Given the description of an element on the screen output the (x, y) to click on. 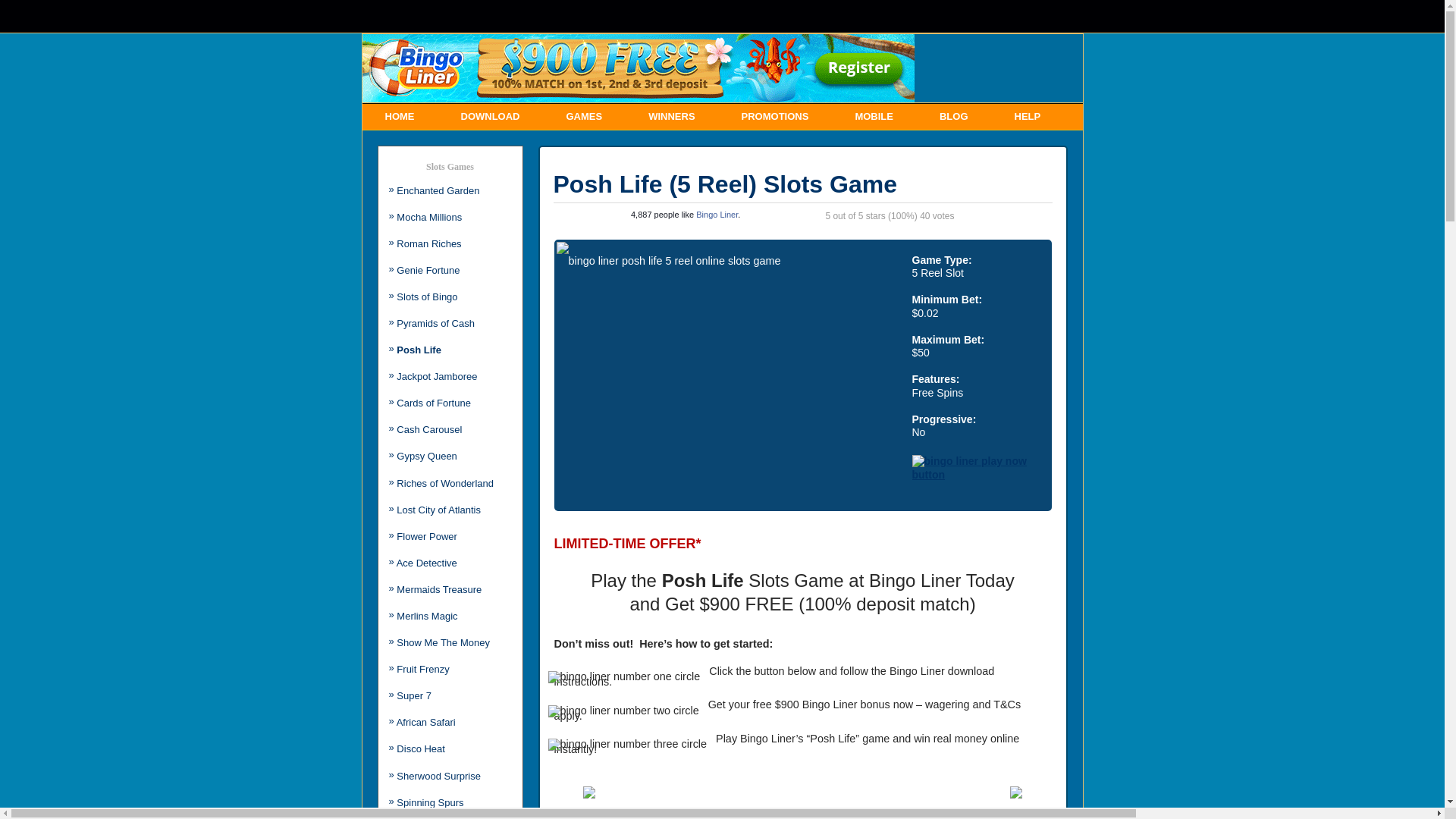
Pyramids of Cash Element type: text (435, 323)
Super 7 Element type: text (413, 695)
Enchanted Garden Element type: text (437, 190)
Jackpot Jamboree Element type: text (436, 376)
Slots of Bingo Element type: text (426, 296)
PROMOTIONS Element type: text (774, 116)
African Safari Element type: text (425, 722)
WINNERS Element type: text (671, 116)
Cards of Fortune Element type: text (433, 402)
Bingo Liner download instructions Element type: text (773, 675)
Genie Fortune Element type: text (427, 270)
Sherwood Surprise Element type: text (438, 775)
MOBILE Element type: text (873, 116)
Fruit Frenzy Element type: text (422, 668)
GAMES Element type: text (583, 116)
Play Bingo Liner Element type: text (755, 738)
Lost City of Atlantis Element type: text (438, 509)
Posh Life Element type: text (418, 349)
Ace Detective Element type: text (426, 562)
BLOG Element type: text (953, 116)
Disco Heat Element type: text (420, 748)
Roman Riches Element type: text (428, 243)
Flower Power Element type: text (426, 536)
Bingo Liner bonus Element type: text (846, 704)
Cash Carousel Element type: text (428, 429)
DOWNLOAD Element type: text (490, 116)
Spinning Spurs Element type: text (429, 802)
Merlins Magic Element type: text (426, 615)
Show Me The Money Element type: text (442, 642)
HELP Element type: text (1027, 116)
Gypsy Queen Element type: text (426, 455)
Mocha Millions Element type: text (428, 216)
Mermaids Treasure Element type: text (438, 589)
Riches of Wonderland Element type: text (444, 483)
HOME Element type: text (399, 116)
